Given the description of an element on the screen output the (x, y) to click on. 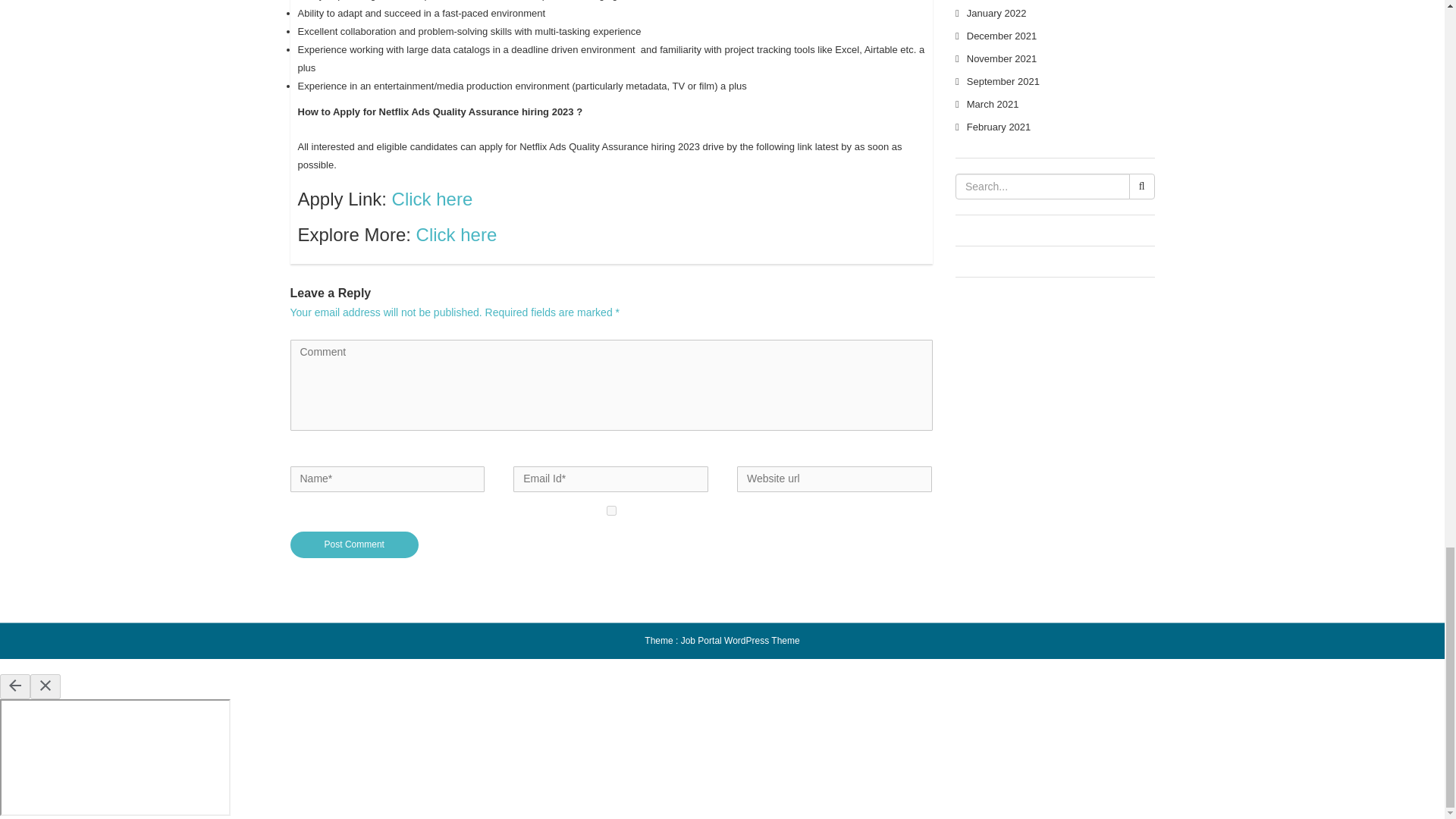
Click here (432, 199)
Click here (456, 234)
Post Comment (354, 543)
yes (611, 510)
Post Comment (354, 543)
